Given the description of an element on the screen output the (x, y) to click on. 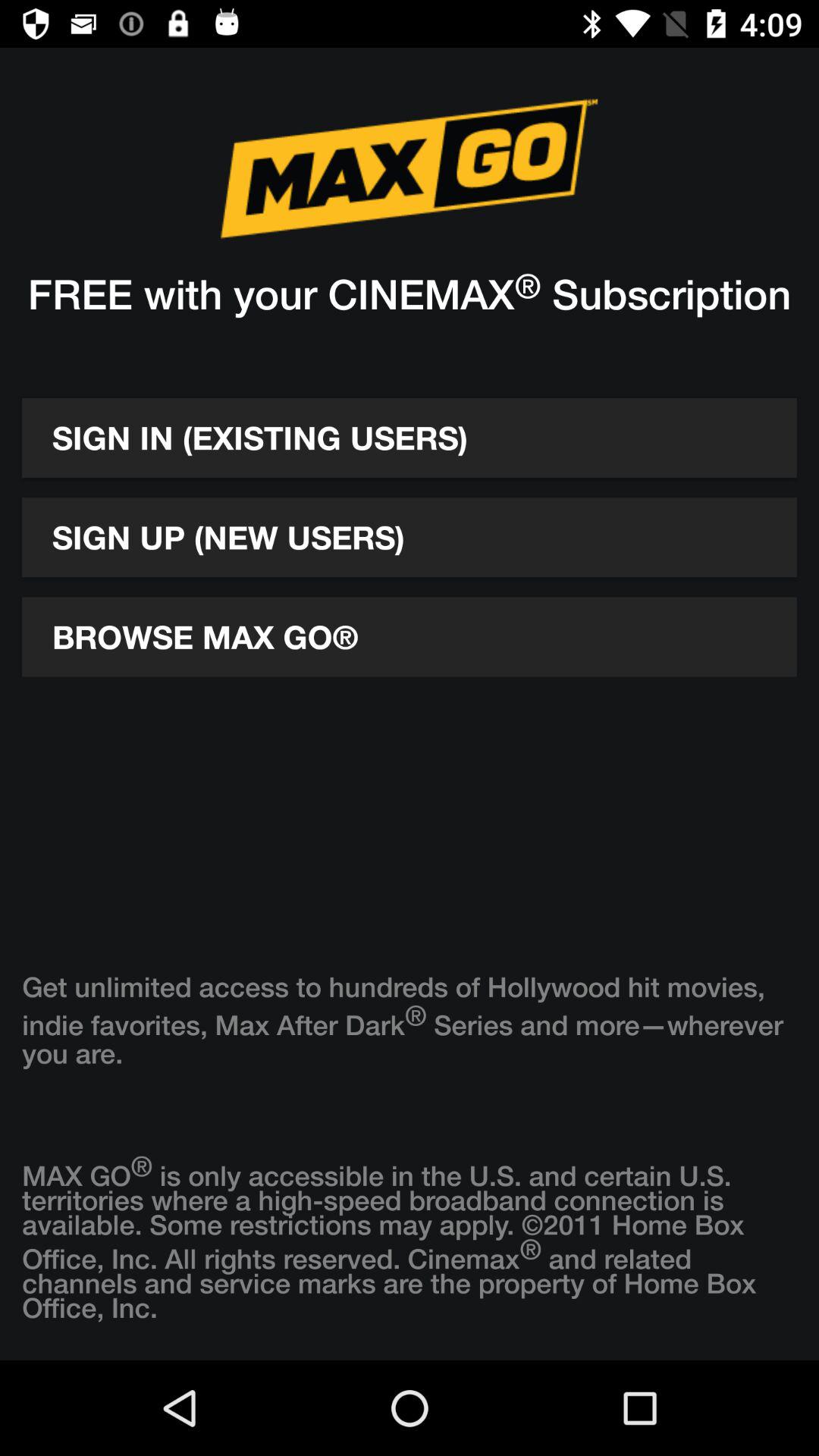
jump to the sign in existing (409, 437)
